Given the description of an element on the screen output the (x, y) to click on. 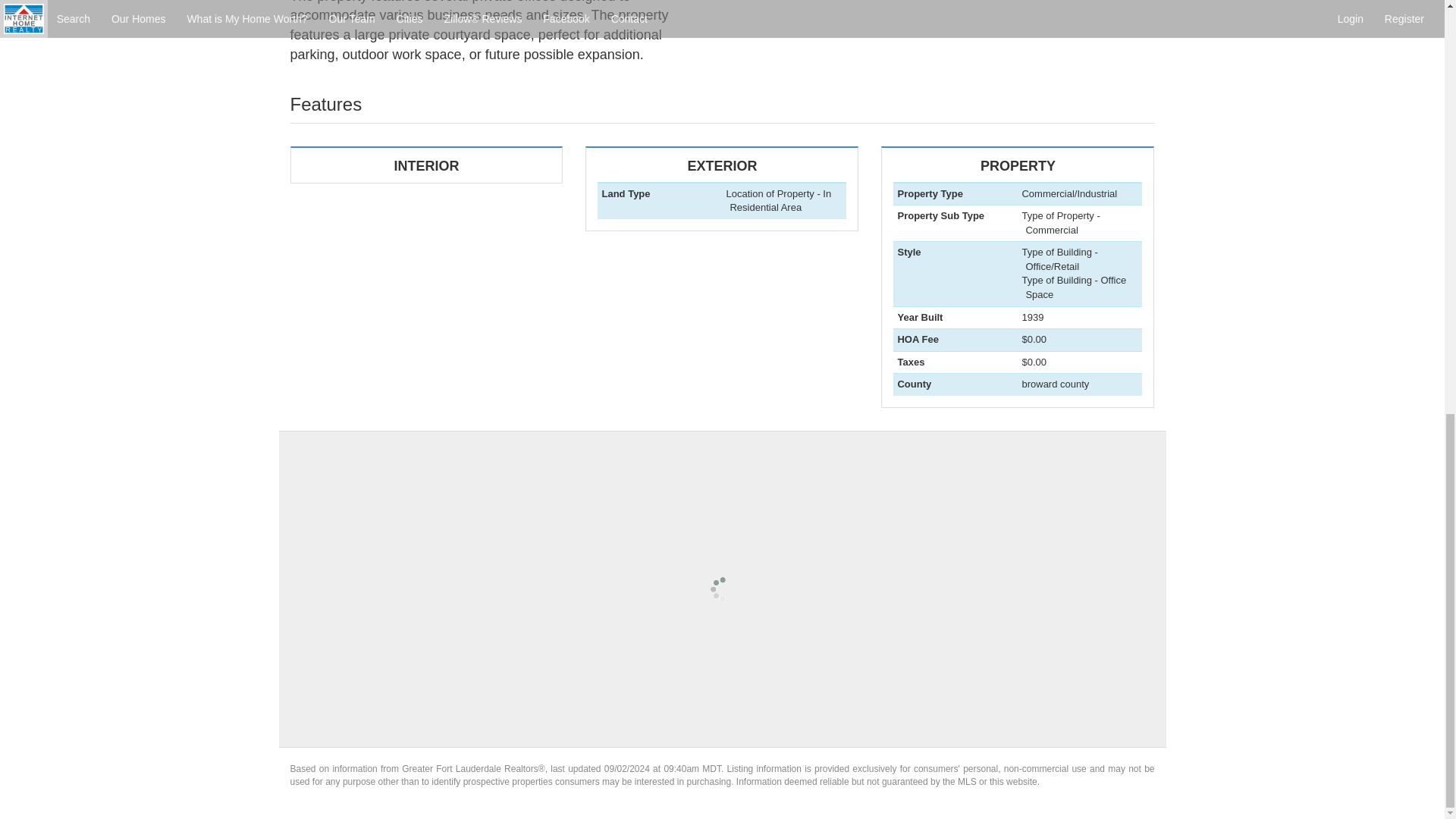
INTERIOR (720, 206)
